Given the description of an element on the screen output the (x, y) to click on. 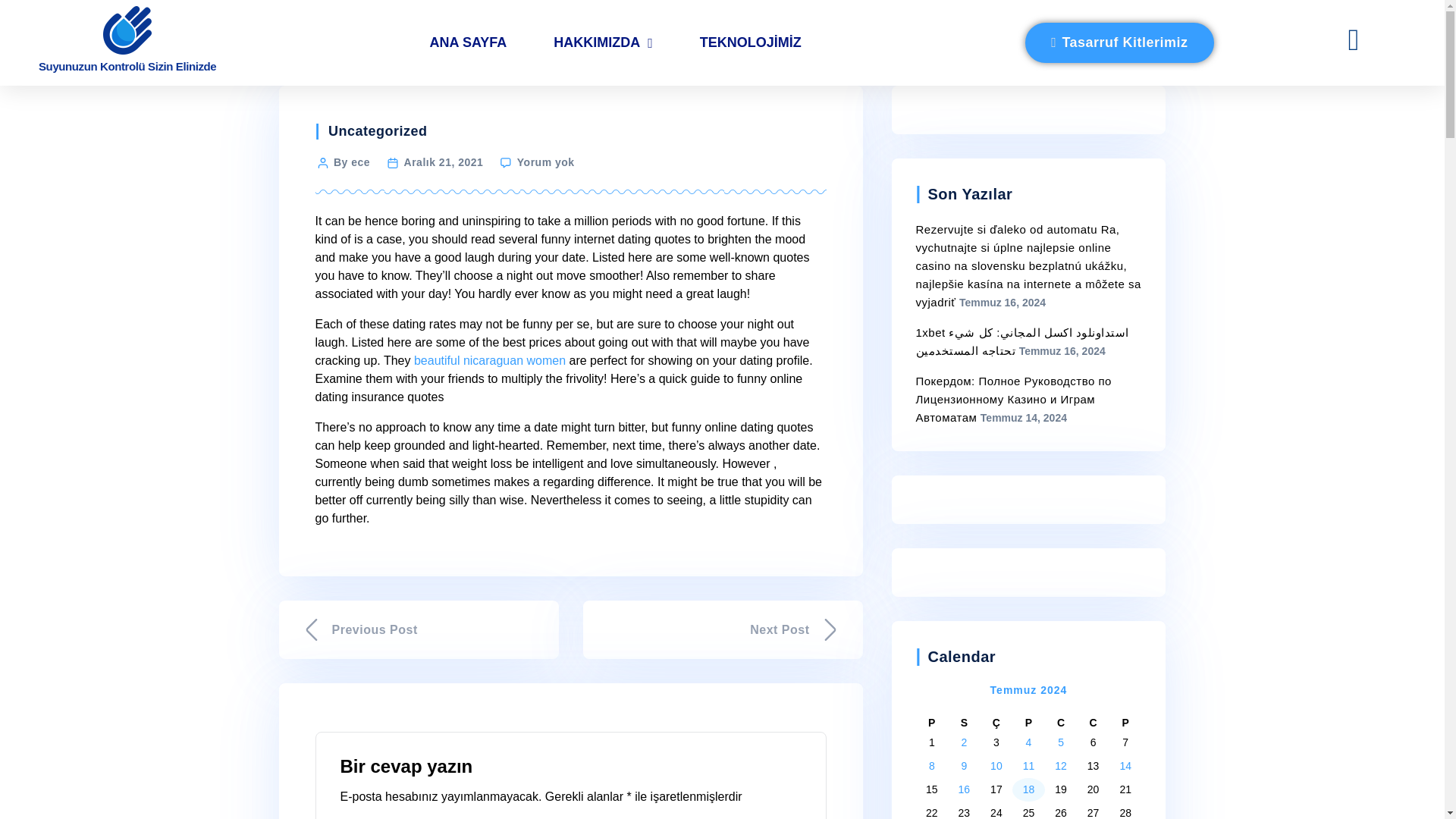
16 (964, 788)
By ece (351, 162)
14 (1125, 766)
Next Post (721, 629)
ANA SAYFA (468, 42)
5 (1061, 742)
9 (963, 766)
Uncategorized (378, 130)
4 (1029, 742)
Previous Post (419, 629)
Pazar (1125, 722)
beautiful nicaraguan women (489, 359)
HAKKIMIZDA (603, 42)
Tasarruf Kitlerimiz (1119, 42)
Yorum yok (545, 162)
